Given the description of an element on the screen output the (x, y) to click on. 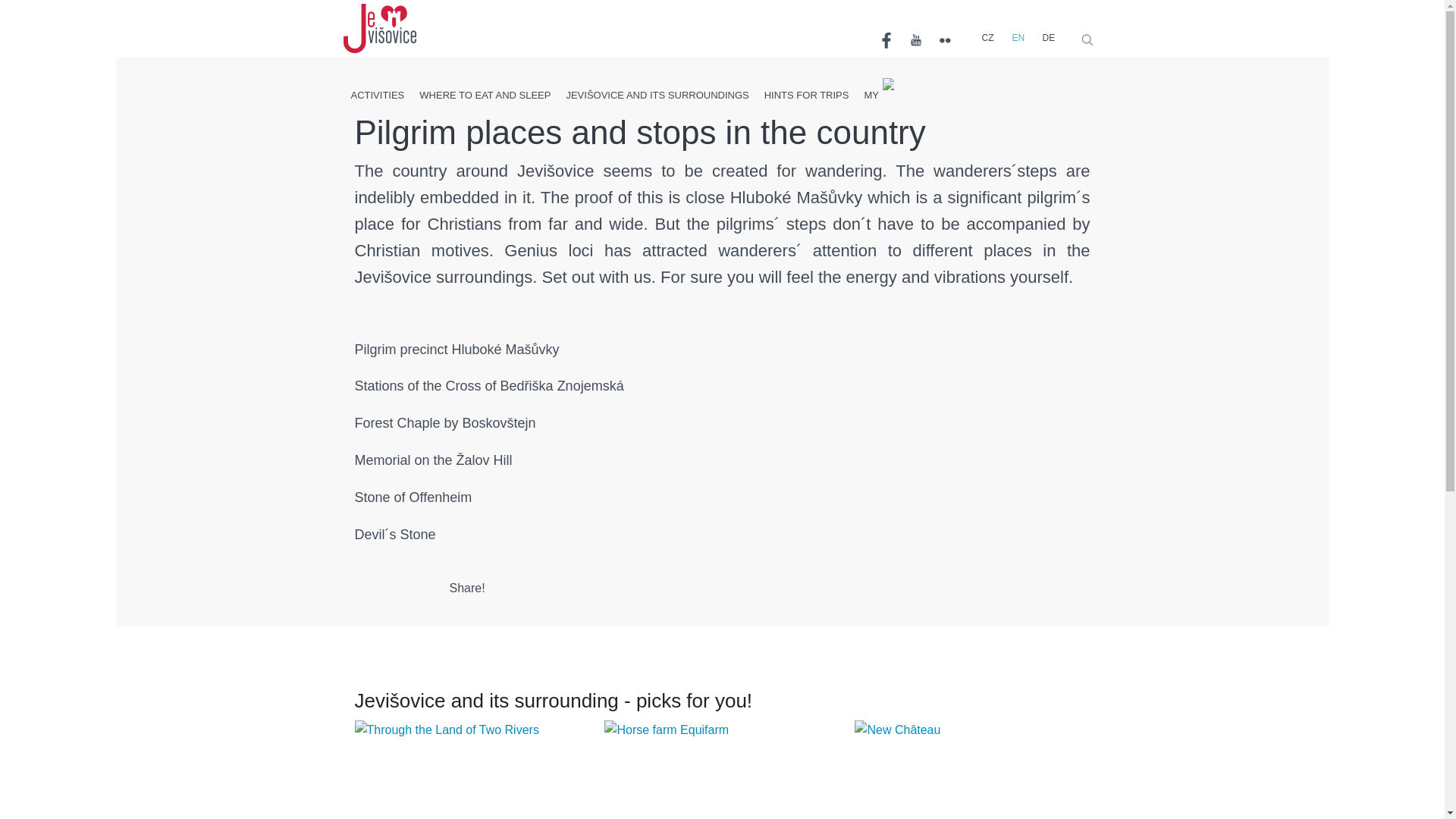
WHERE TO EAT AND SLEEP (484, 94)
EN (1015, 38)
ACTIVITIES (377, 94)
CZ (986, 38)
HINTS FOR TRIPS (807, 94)
DE (1045, 38)
